Given the description of an element on the screen output the (x, y) to click on. 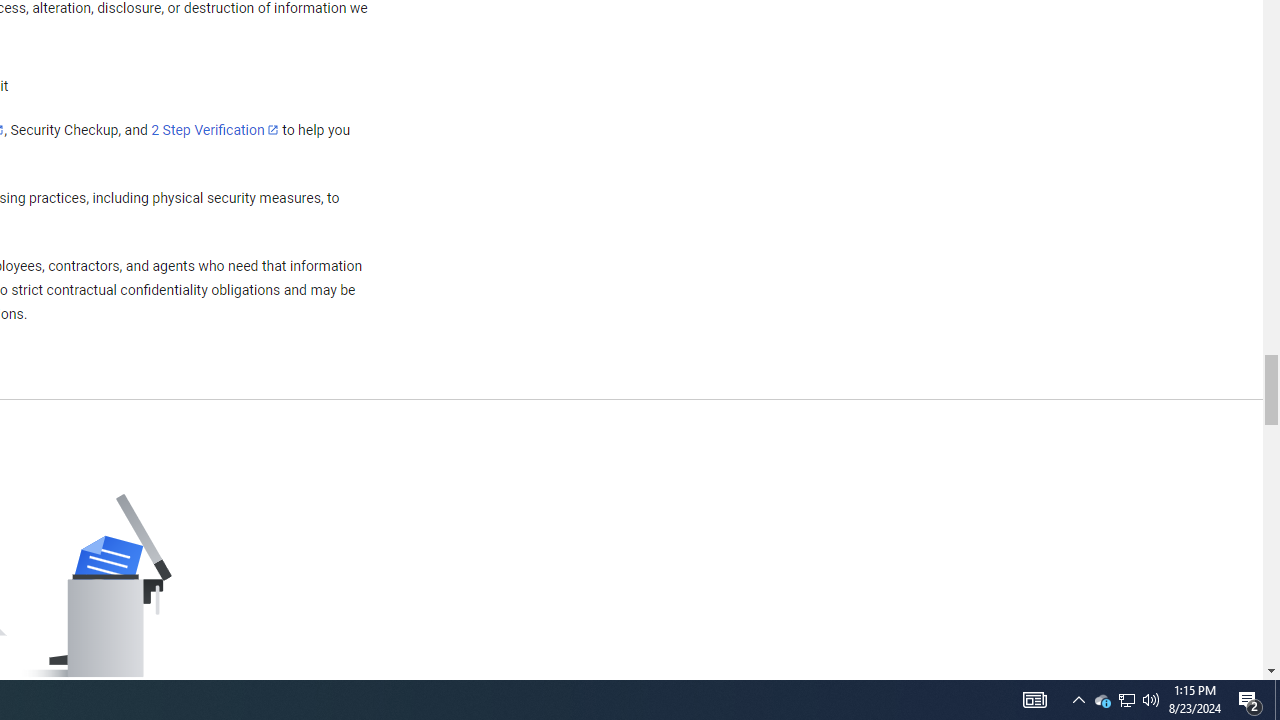
2 Step Verification (215, 129)
